Given the description of an element on the screen output the (x, y) to click on. 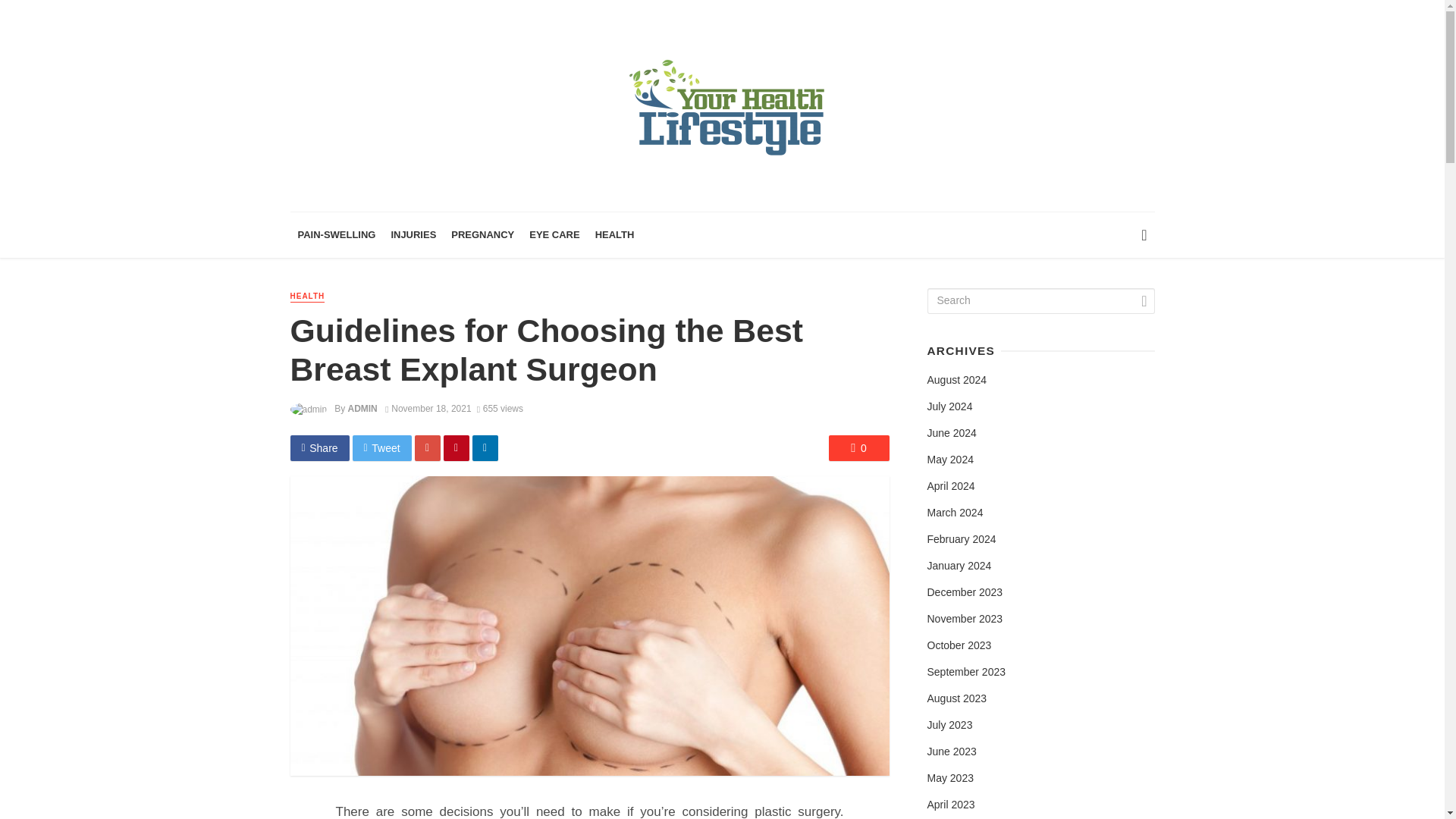
PREGNANCY (482, 234)
ADMIN (362, 408)
November 18, 2021 at 11:07 am (427, 408)
HEALTH (306, 296)
INJURIES (413, 234)
Share on Pinterest (456, 447)
EYE CARE (553, 234)
Share on Facebook (319, 447)
HEALTH (615, 234)
Share (319, 447)
